Given the description of an element on the screen output the (x, y) to click on. 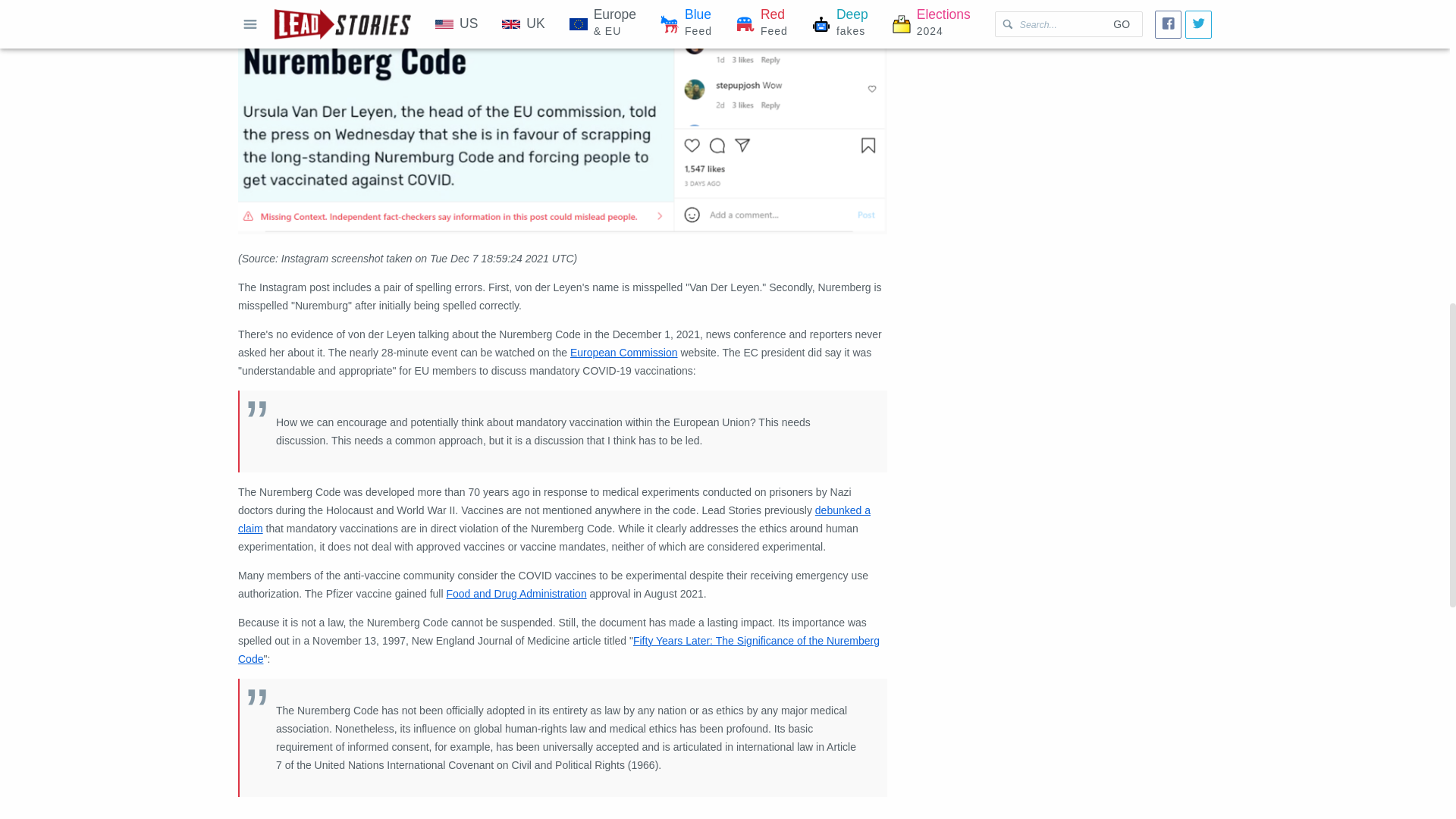
European Commission (624, 352)
Food and Drug Administration (515, 593)
debunked a claim (554, 519)
Fifty Years Later: The Significance of the Nuremberg Code (558, 649)
